Given the description of an element on the screen output the (x, y) to click on. 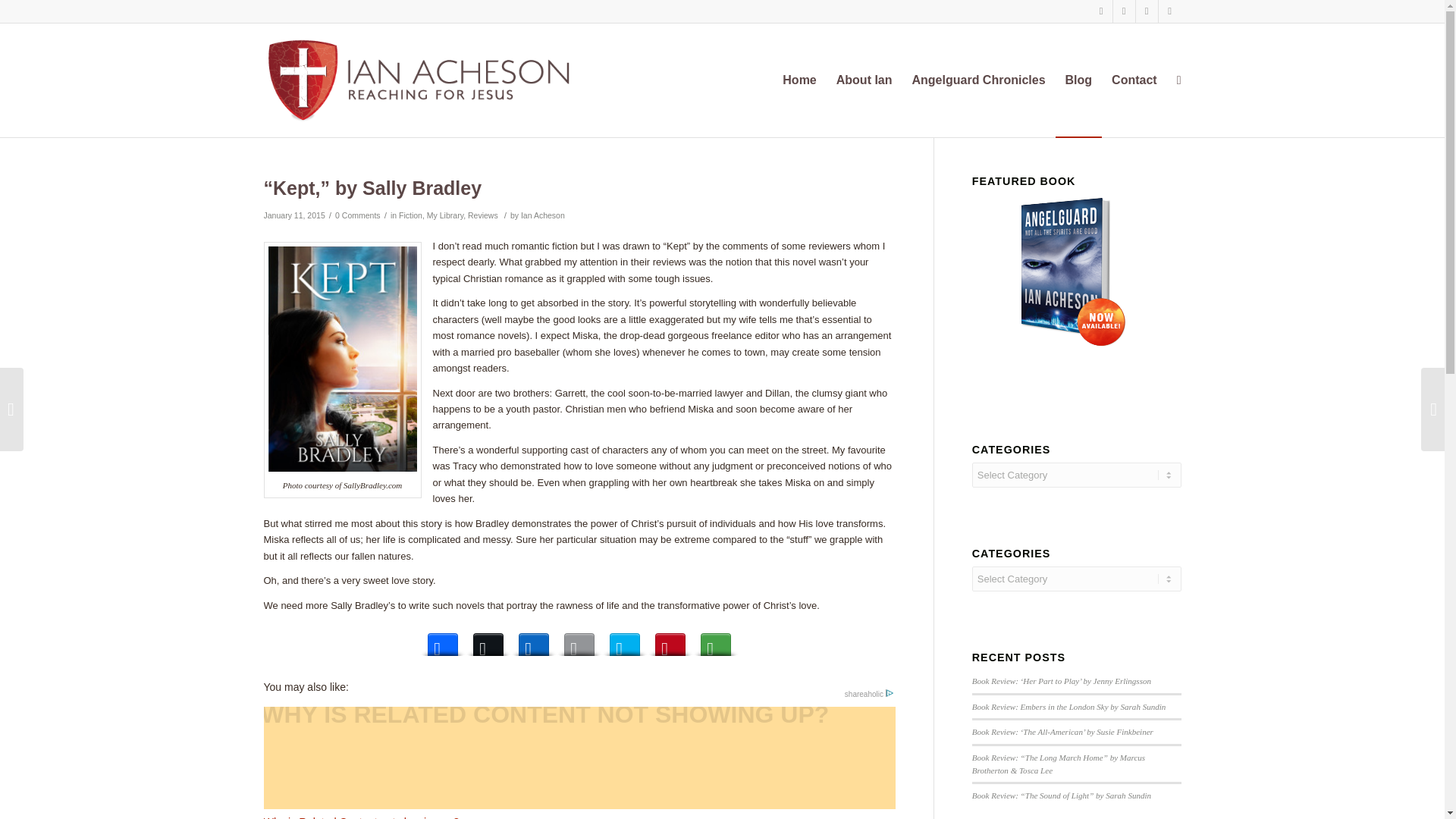
Angelguard Chronicles (978, 80)
LinkedIn (533, 640)
Why is Related Content not showing up? (579, 762)
My Library (444, 215)
Pinterest (670, 640)
Website Tools by Shareaholic (868, 694)
0 Comments (357, 215)
Facebook (442, 640)
Rss (1169, 11)
More Options (715, 640)
Posts by Ian Acheson (542, 215)
Facebook (1124, 11)
Email This (579, 640)
PrintFriendly (624, 640)
